Given the description of an element on the screen output the (x, y) to click on. 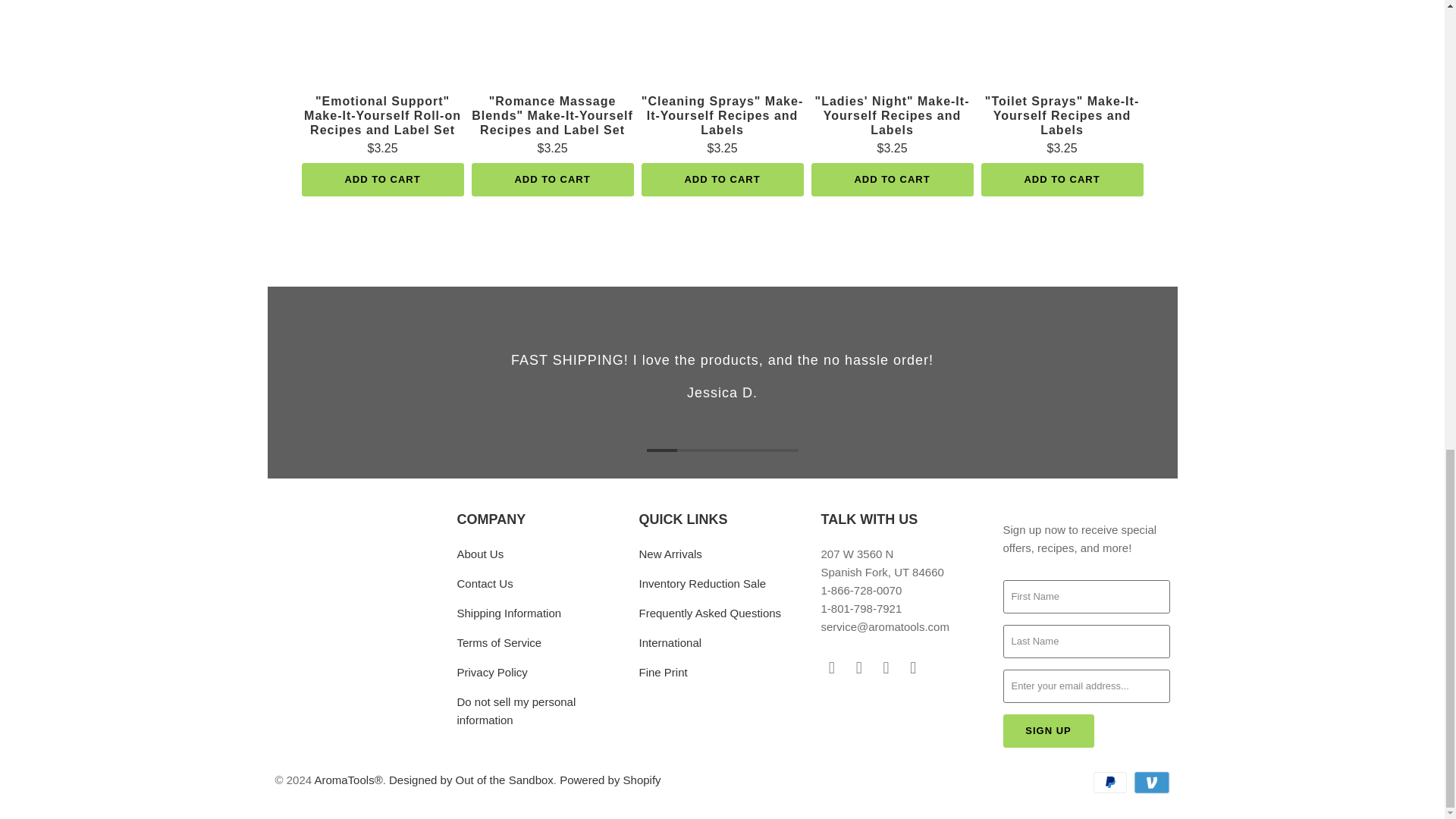
Sign Up (1048, 730)
PayPal (1111, 782)
Venmo (1150, 782)
